Given the description of an element on the screen output the (x, y) to click on. 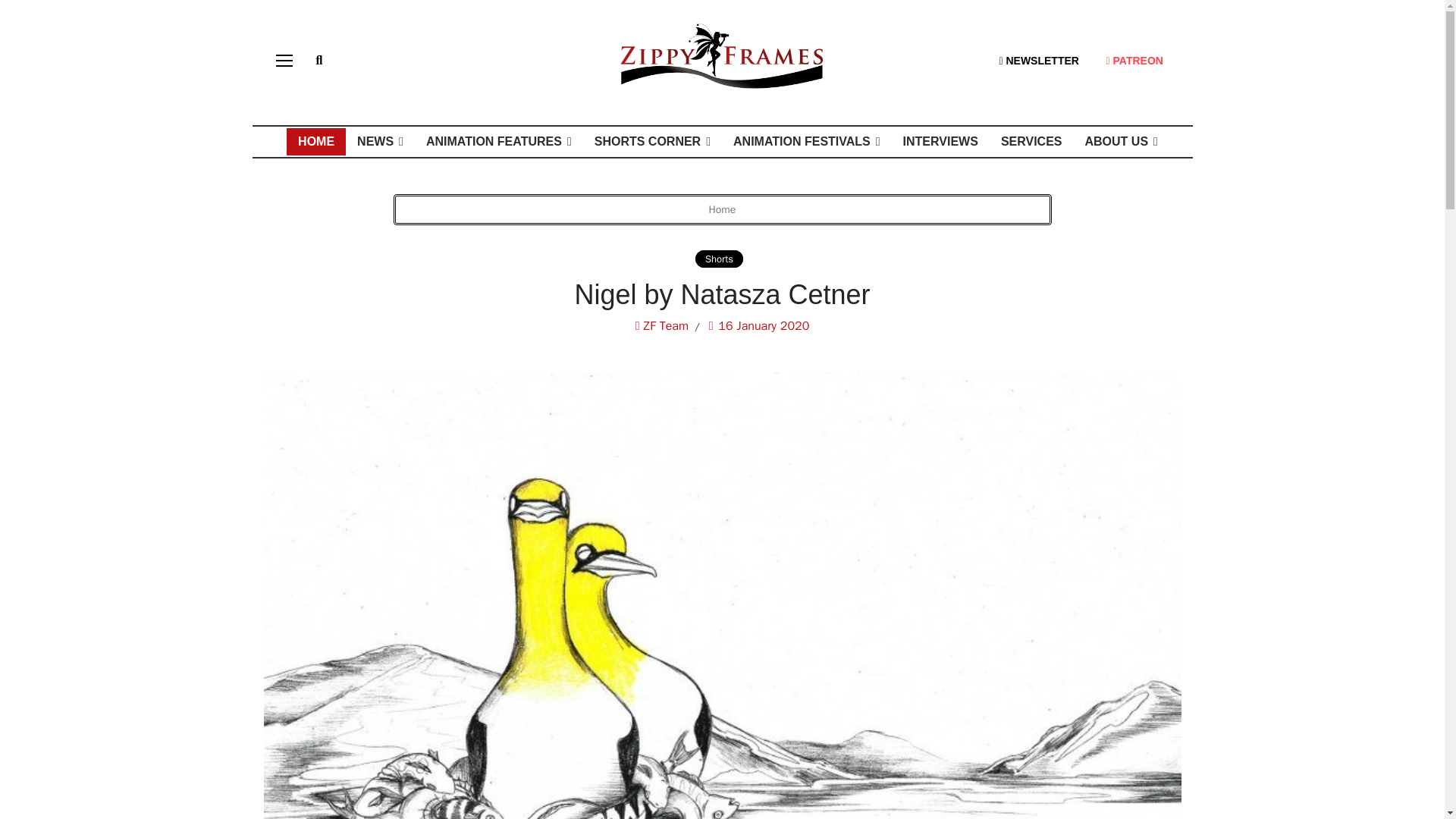
NEWSLETTER (1037, 59)
Written by: ZF Team (661, 325)
Category: Shorts (722, 259)
Published: 16 January 2020 (748, 325)
PATREON (1134, 59)
